Given the description of an element on the screen output the (x, y) to click on. 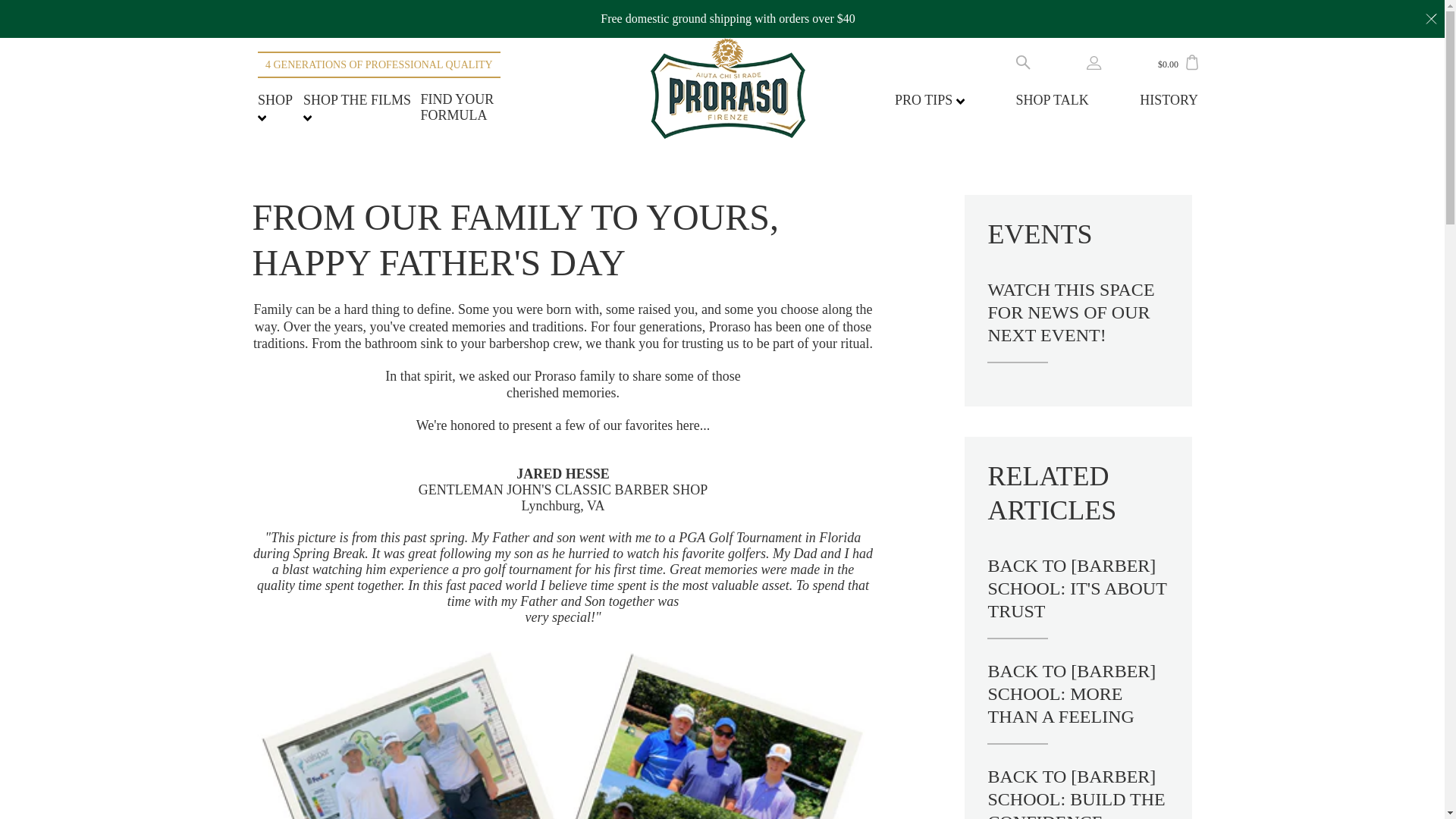
SHOP THE FILMS (356, 108)
ACCOUNT (1094, 62)
Proraso USA (727, 87)
Search (1023, 61)
SHOP (274, 108)
